Given the description of an element on the screen output the (x, y) to click on. 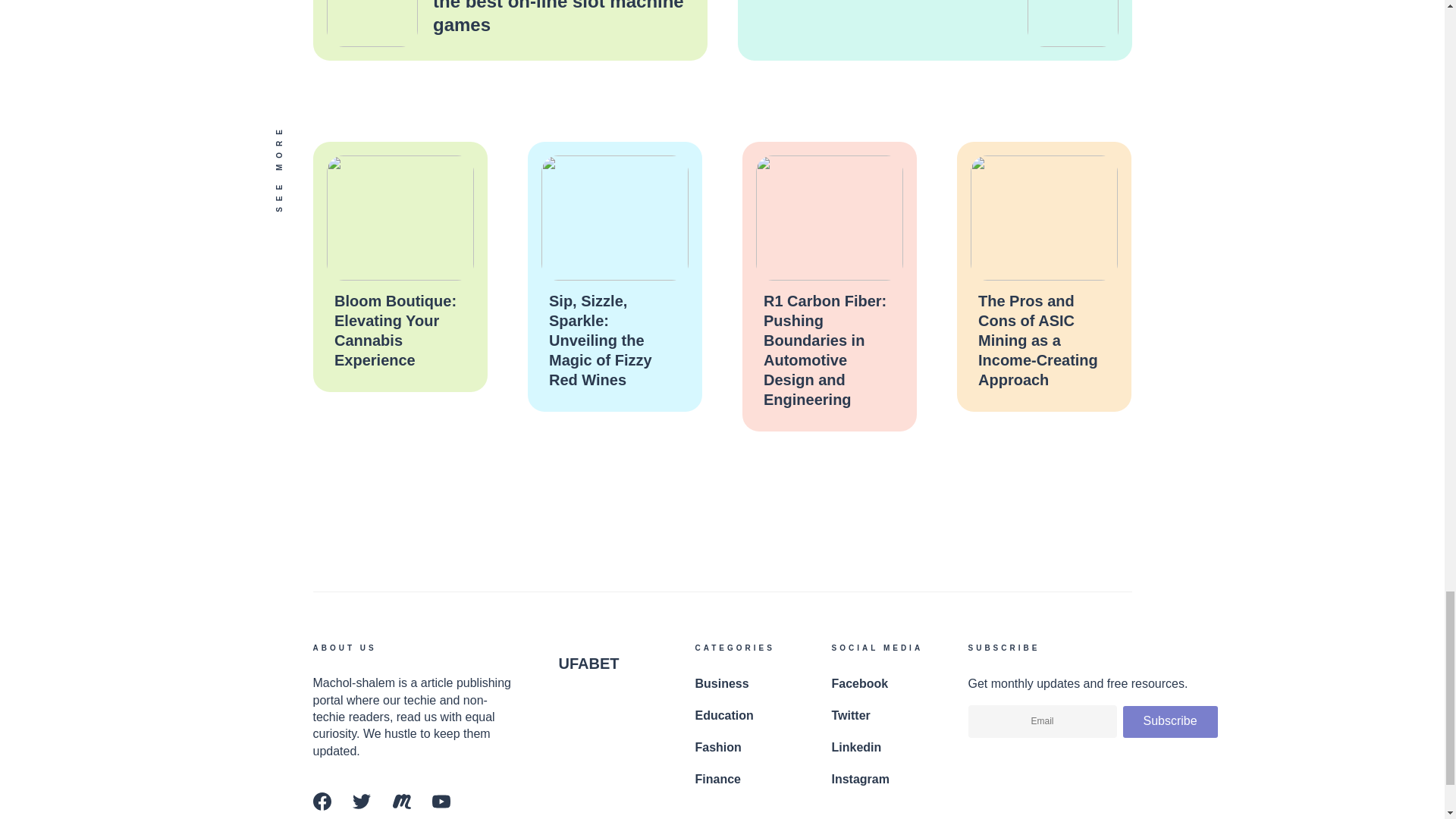
Bloom Boutique: Elevating Your Cannabis Experience (394, 330)
Sip, Sizzle, Sparkle: Unveiling the Magic of Fizzy Red Wines (600, 340)
